Given the description of an element on the screen output the (x, y) to click on. 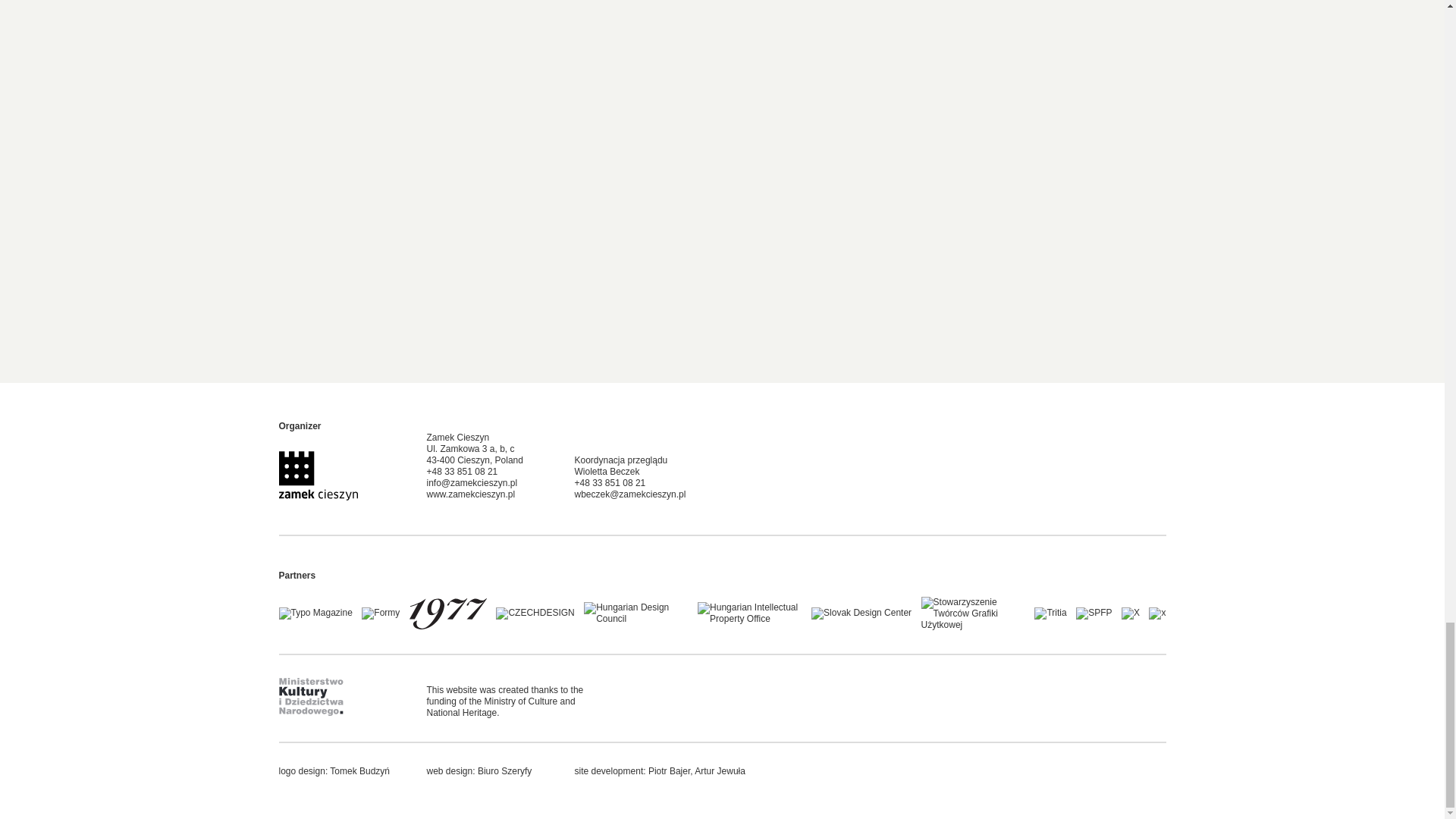
Hungarian Intellectual Property Office (749, 612)
Tritia (1049, 613)
SPFP (1093, 613)
Formy (379, 613)
x (1157, 613)
1977 (447, 613)
X (1130, 613)
Hungarian Design Council (635, 612)
Slovak Design Center (860, 613)
Typo Magazine (315, 613)
CZECHDESIGN (534, 613)
